Given the description of an element on the screen output the (x, y) to click on. 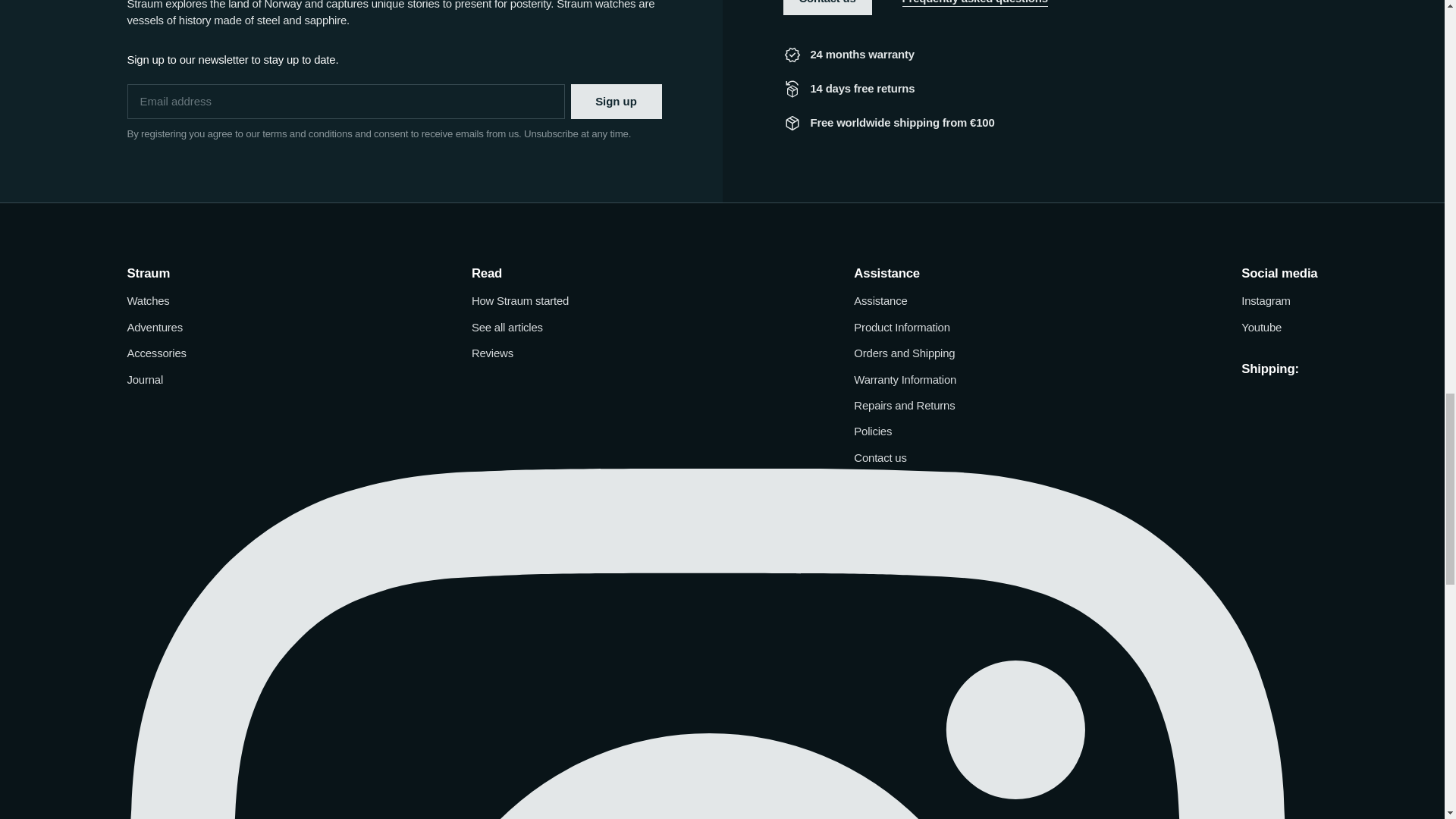
Frequently asked questions (974, 7)
Sign up (615, 101)
Watches (149, 300)
Accessories (157, 352)
Journal (145, 379)
Contact us (826, 7)
Adventures (155, 327)
